Given the description of an element on the screen output the (x, y) to click on. 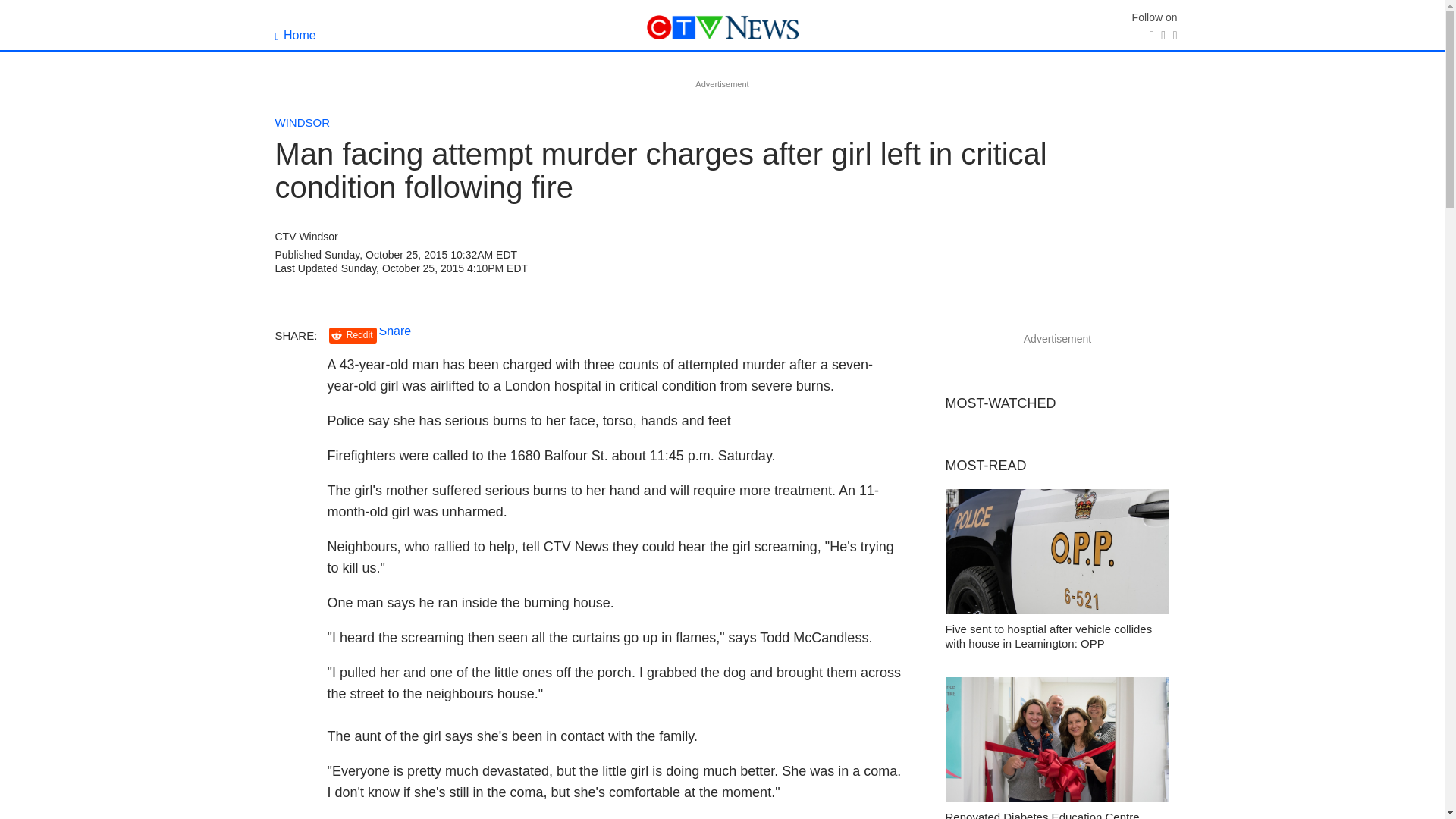
Share (395, 330)
WINDSOR (302, 122)
Reddit (353, 335)
Home (295, 34)
